Given the description of an element on the screen output the (x, y) to click on. 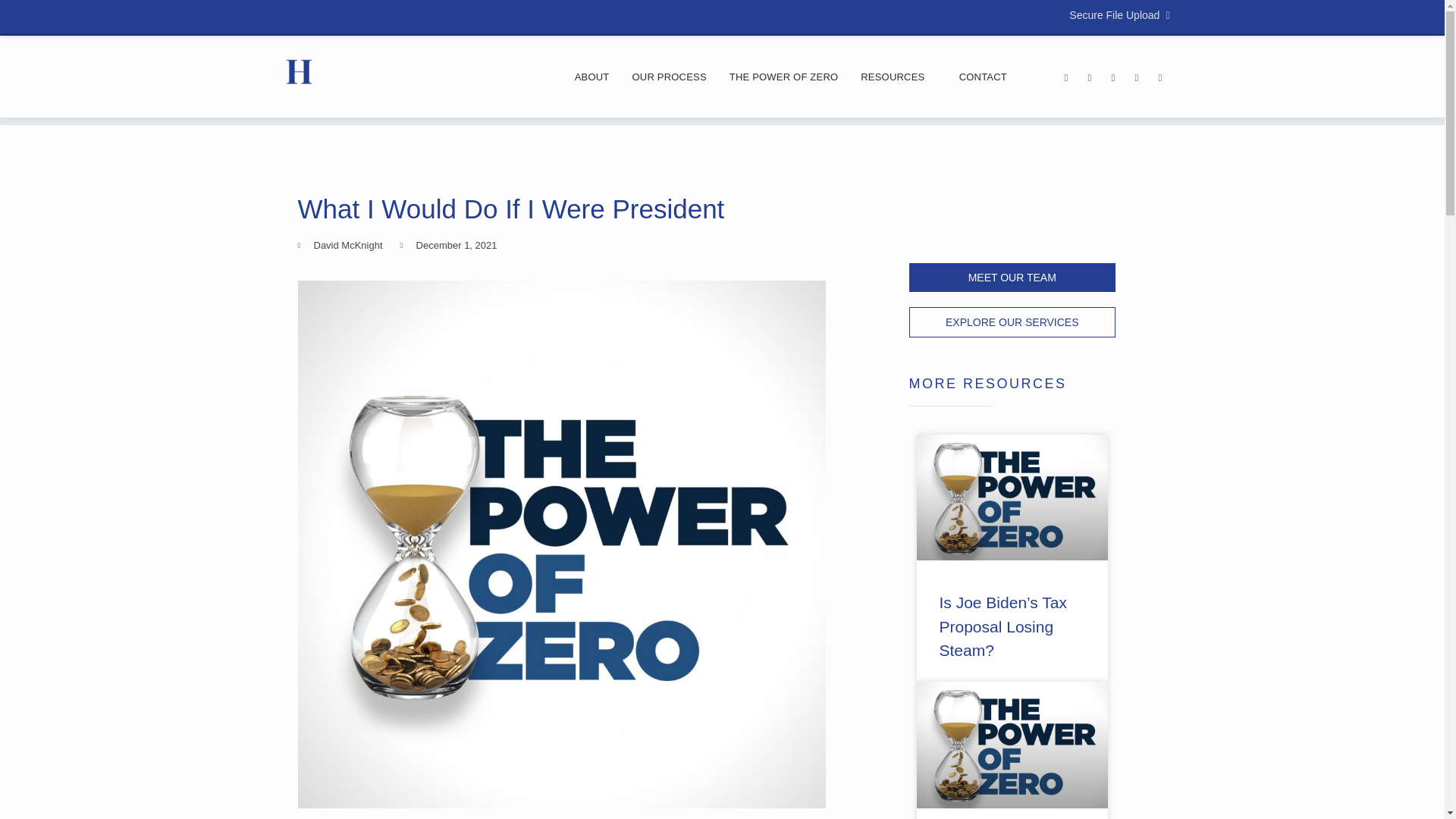
CONTACT (982, 77)
RESOURCES (897, 77)
THE POWER OF ZERO (783, 77)
EXPLORE OUR SERVICES (1011, 322)
ABOUT (592, 77)
MEET OUR TEAM (1011, 276)
Secure File Upload (1118, 14)
OUR PROCESS (668, 77)
Twitter (1136, 76)
Facebook-f (1112, 76)
Phone-alt (1066, 76)
David McKnight (339, 245)
December 1, 2021 (448, 245)
Icon-linkedin (1160, 76)
Envelope (1089, 76)
